Given the description of an element on the screen output the (x, y) to click on. 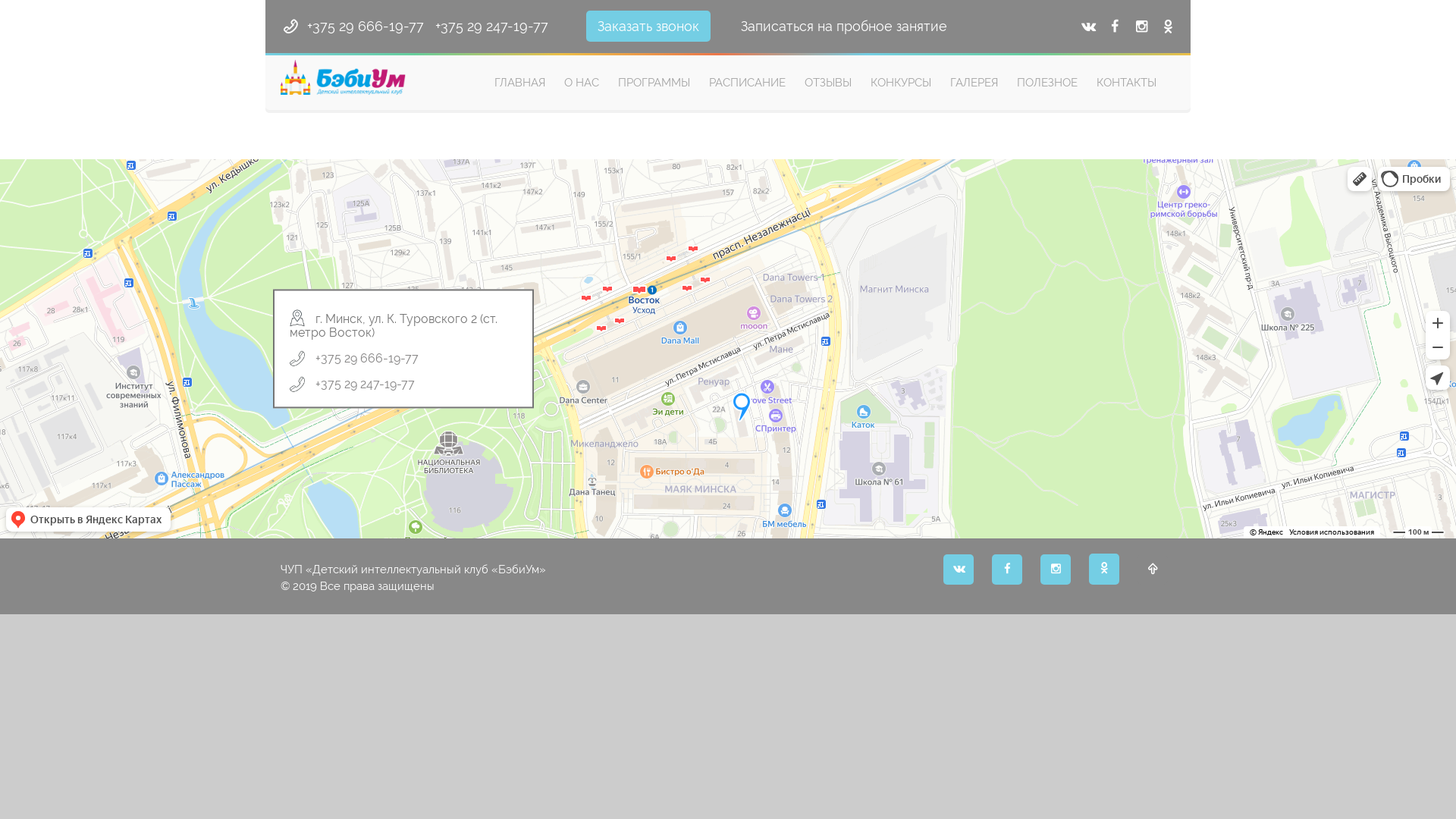
+375 29 247-19-77 Element type: text (364, 384)
+375 29 247-19-77 Element type: text (491, 26)
+375 29 666-19-77 Element type: text (365, 26)
+375 29 666-19-77 Element type: text (366, 358)
